Given the description of an element on the screen output the (x, y) to click on. 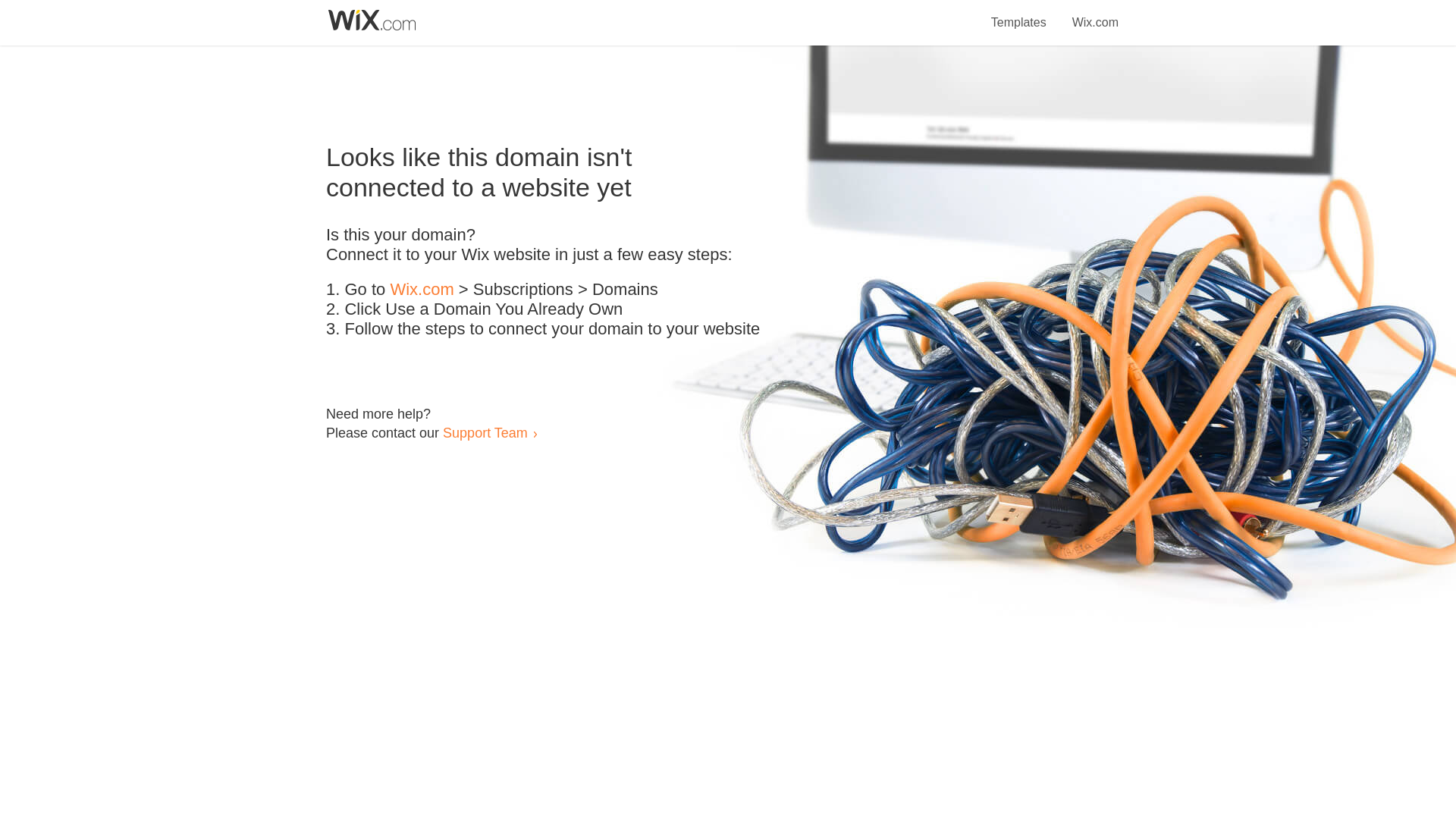
Wix.com (1095, 14)
Support Team (484, 432)
Templates (1018, 14)
Wix.com (421, 289)
